Given the description of an element on the screen output the (x, y) to click on. 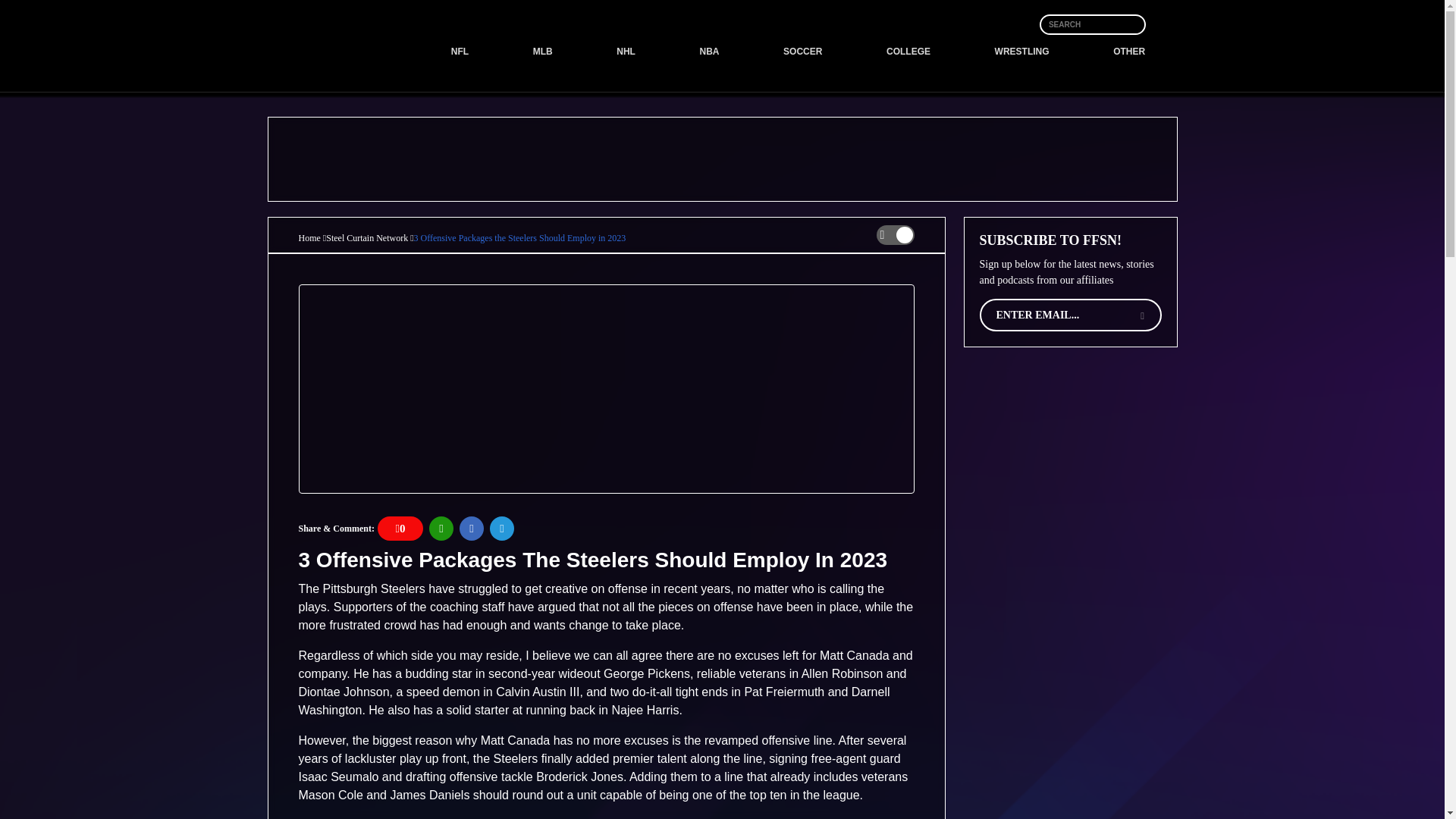
Advertisement (1069, 457)
Advertisement (797, 55)
